Given the description of an element on the screen output the (x, y) to click on. 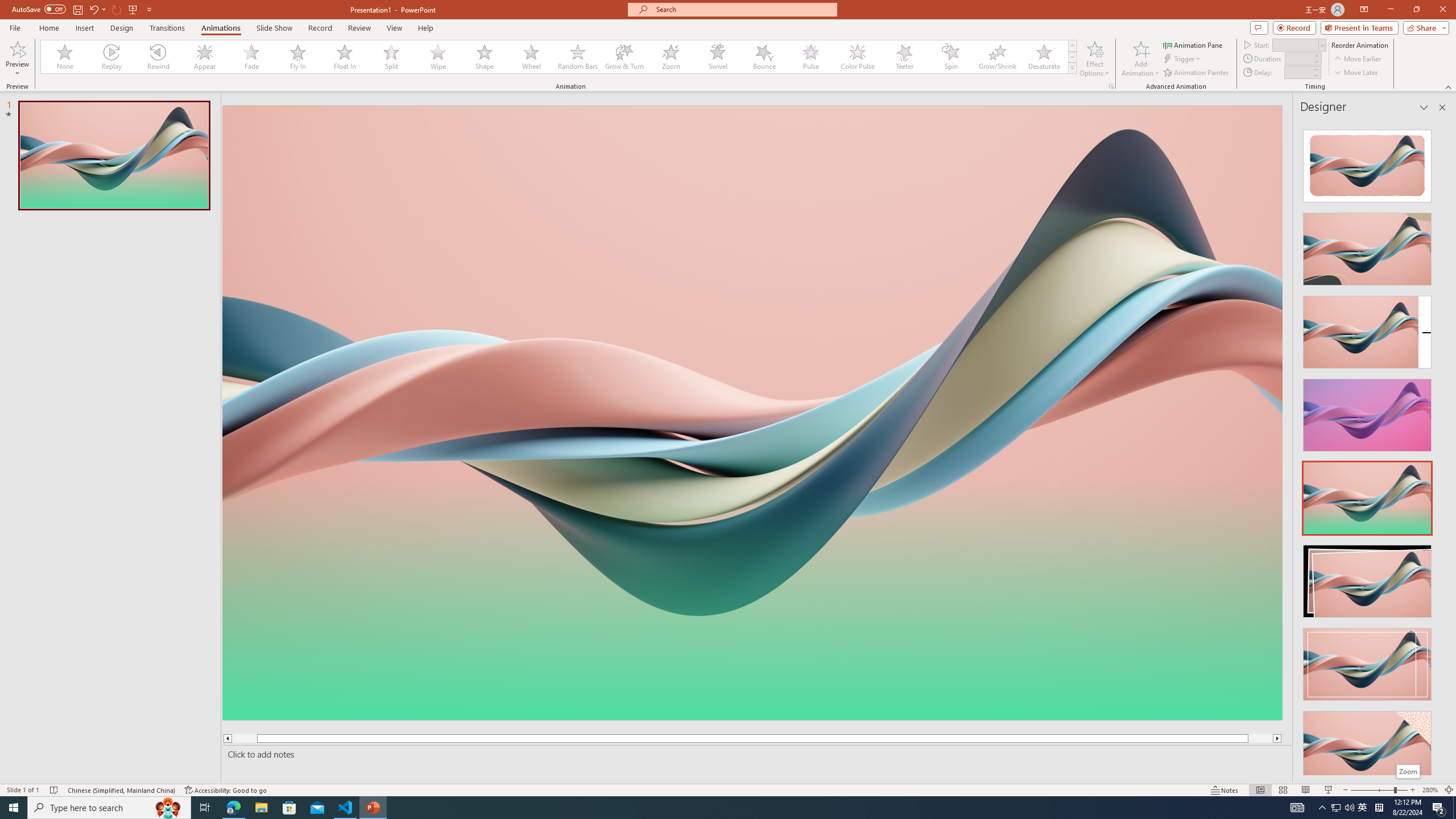
Random Bars (577, 56)
Float In (344, 56)
Wipe (437, 56)
Fade (251, 56)
Recommended Design: Design Idea (1366, 162)
Animation Painter (1196, 72)
